Given the description of an element on the screen output the (x, y) to click on. 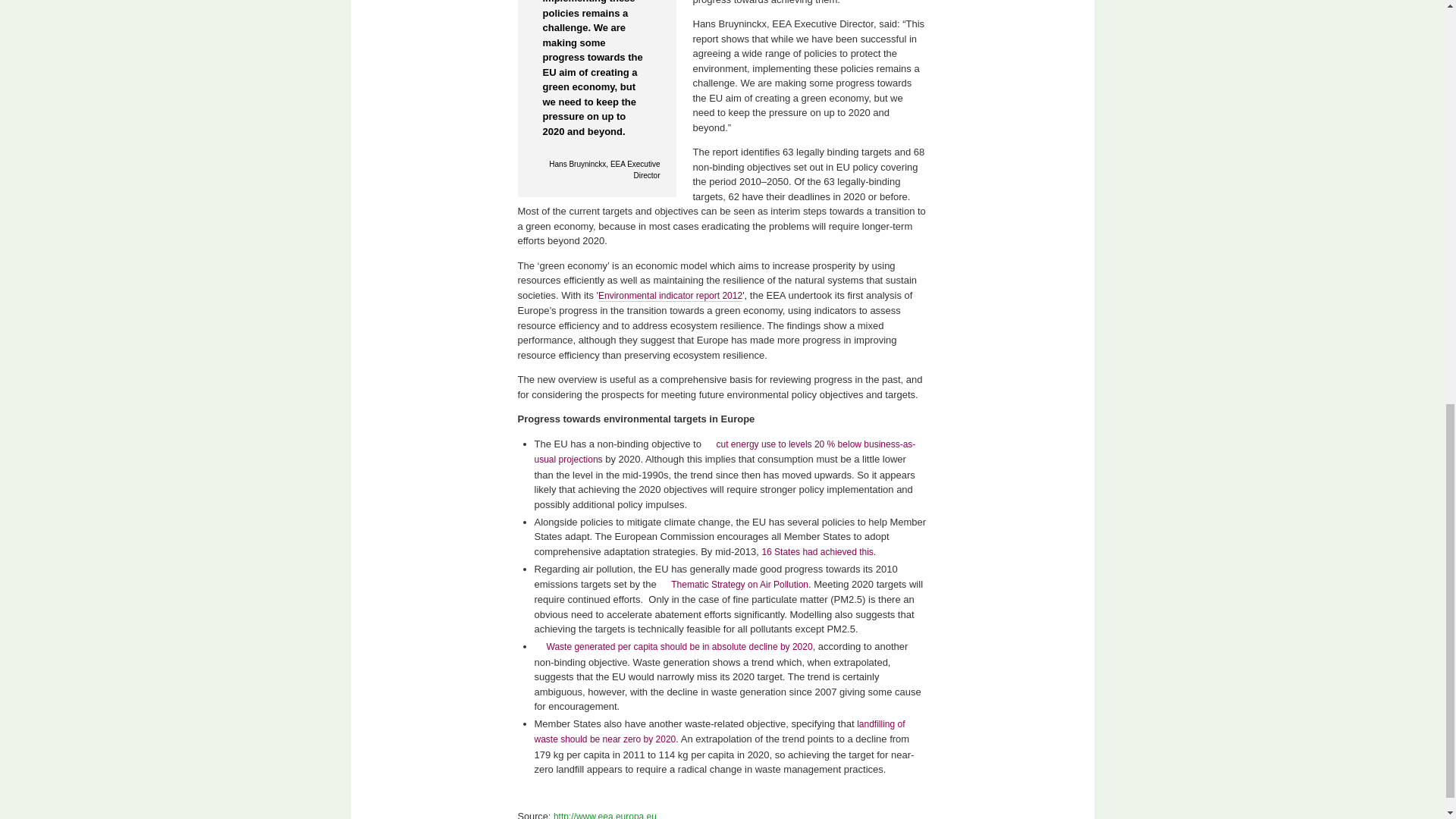
Thematic Strategy on Air Pollution (733, 584)
Environmental indicator report 2012 (670, 296)
landfilling of waste should be near zero by 2020 (719, 732)
16 States had achieved this (816, 551)
